Given the description of an element on the screen output the (x, y) to click on. 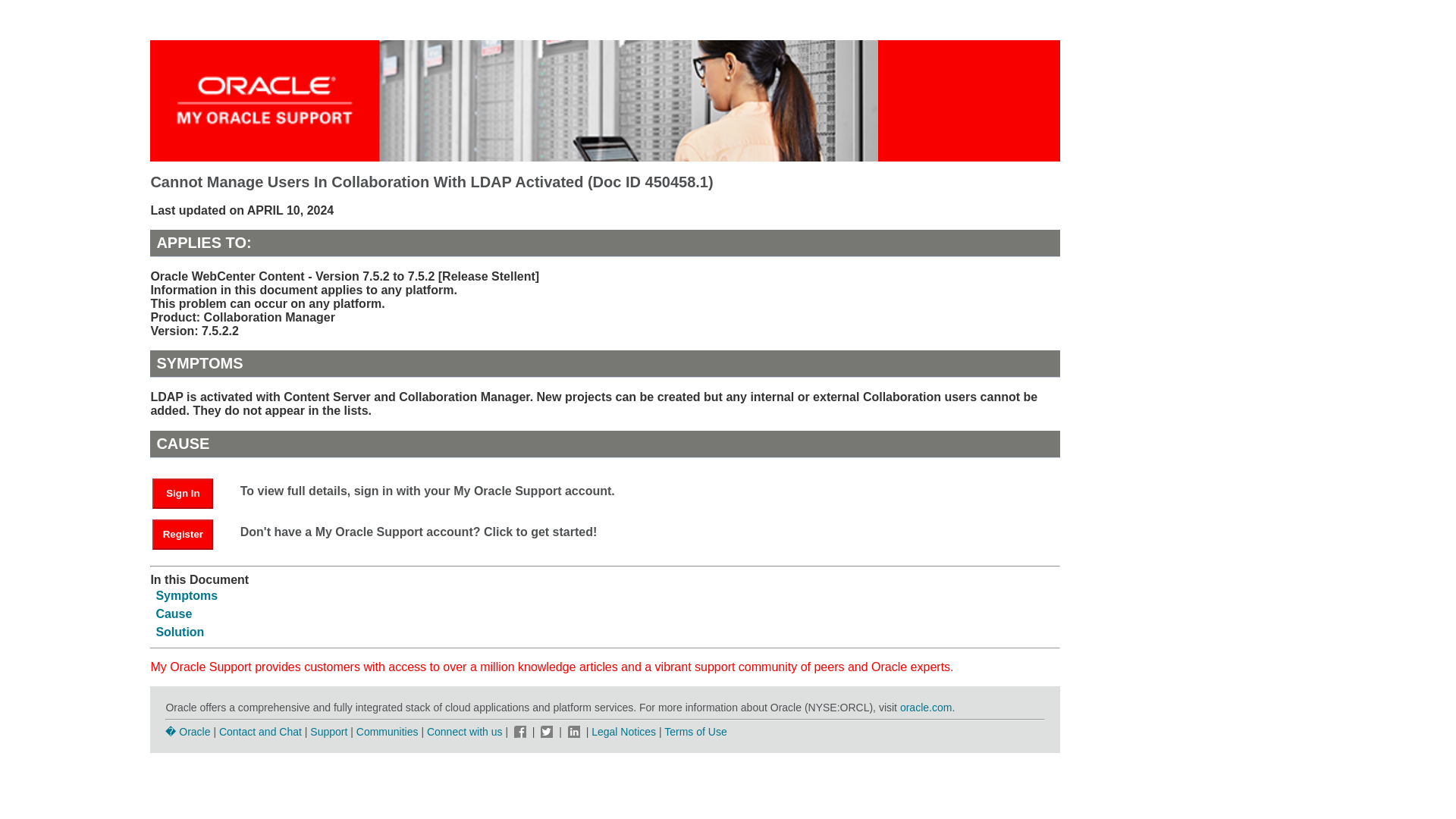
Solution (179, 631)
Symptoms (185, 594)
Terms of Use (694, 731)
Contact and Chat (260, 731)
Connect with us (465, 731)
Cause (173, 613)
Sign In (190, 492)
Communities (387, 731)
Sign In (182, 493)
Legal Notices (623, 731)
Register (190, 533)
Register (182, 534)
oracle.com (925, 707)
oracle.com (925, 707)
Support (328, 731)
